Given the description of an element on the screen output the (x, y) to click on. 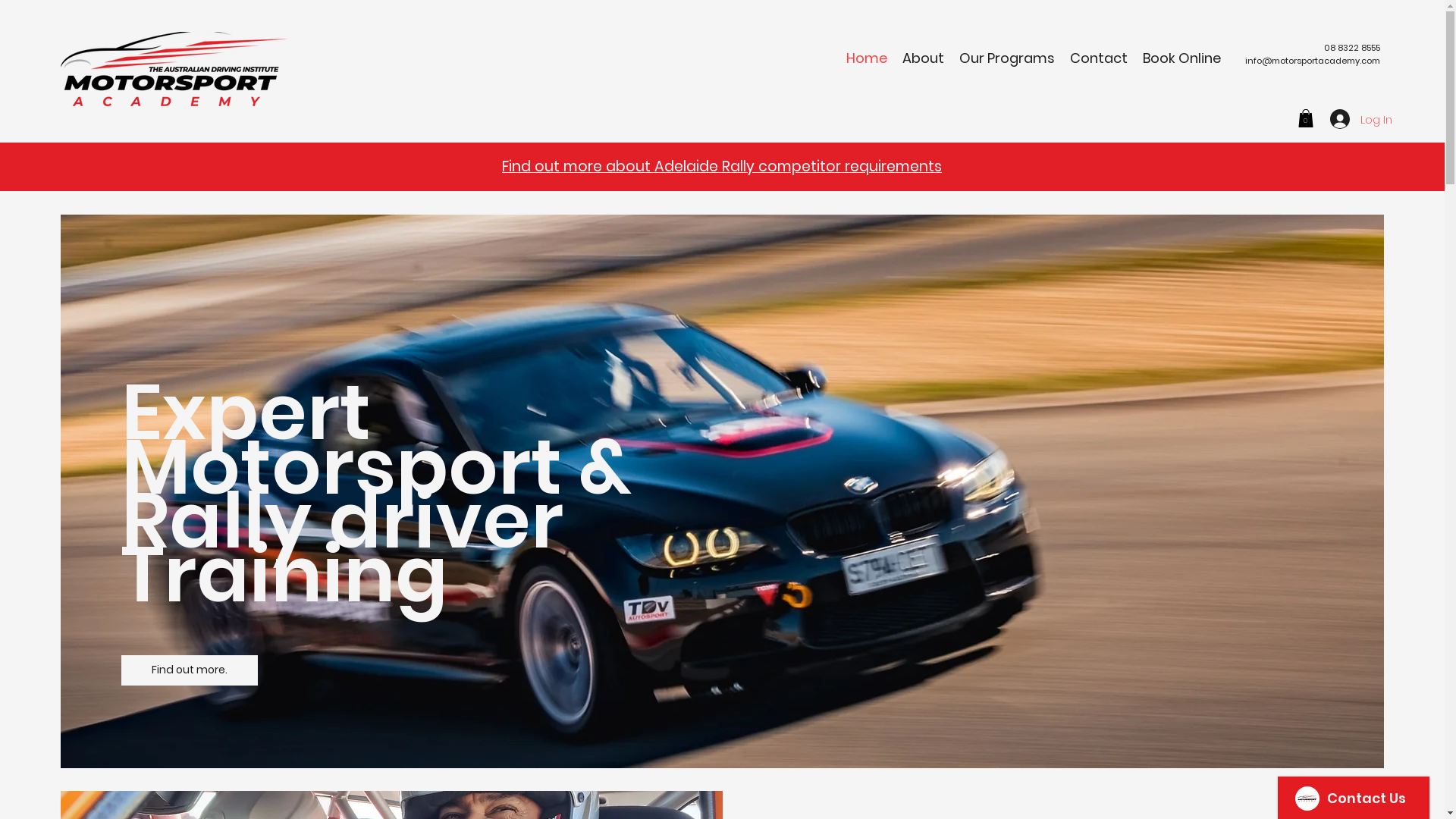
Book Online Element type: text (1181, 58)
Find out more. Element type: text (189, 670)
info@motorsportacademy.com Element type: text (1312, 60)
Log In Element type: text (1347, 118)
0 Element type: text (1305, 118)
About Element type: text (922, 58)
Find out more about Adelaide Rally competitor requirements Element type: text (721, 166)
Our Programs Element type: text (1006, 58)
Contact Element type: text (1098, 58)
Home Element type: text (866, 58)
